Given the description of an element on the screen output the (x, y) to click on. 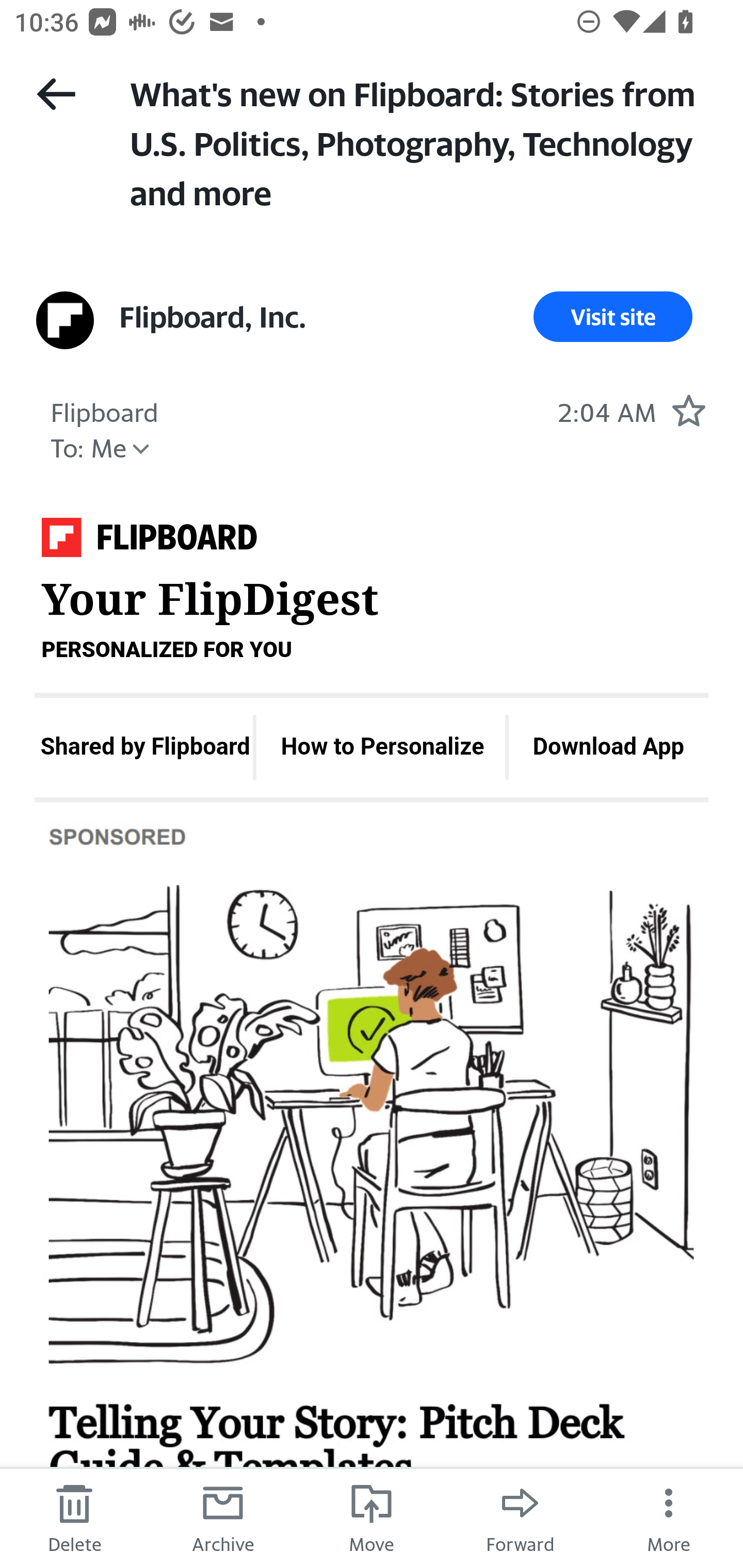
Back (55, 93)
View all messages from sender (64, 320)
Visit site Visit Site Link (612, 316)
Flipboard, Inc. Sender Flipboard, Inc. (212, 316)
Flipboard Sender Flipboard (104, 410)
Mark as starred. (688, 410)
Your FlipDigest (149, 542)
Shared by Flipboard (144, 747)
How to Personalize (381, 747)
Download App (608, 747)
Delete (74, 1517)
Archive (222, 1517)
Move (371, 1517)
Forward (519, 1517)
More (668, 1517)
